Given the description of an element on the screen output the (x, y) to click on. 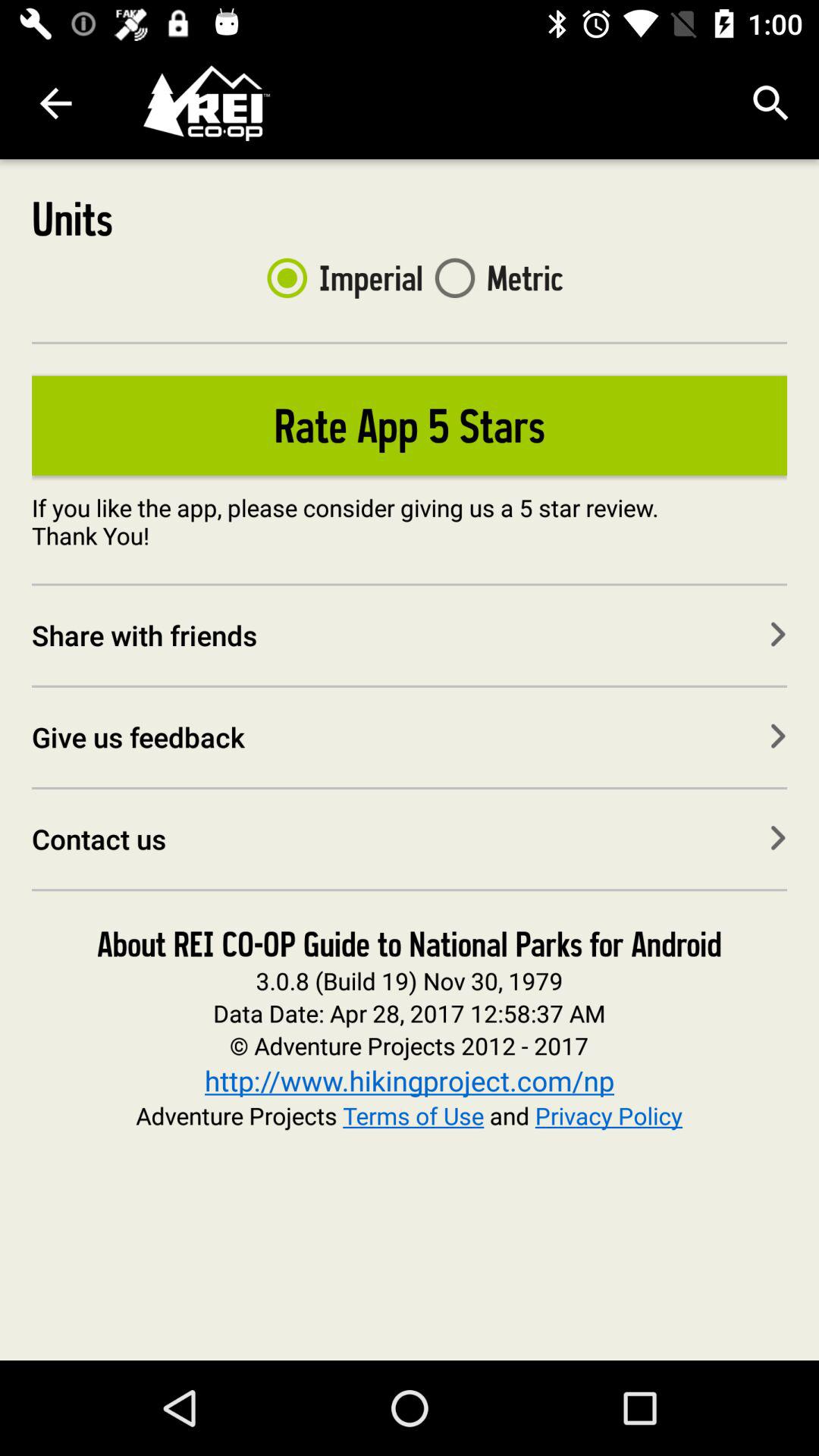
press the metric item (493, 277)
